Given the description of an element on the screen output the (x, y) to click on. 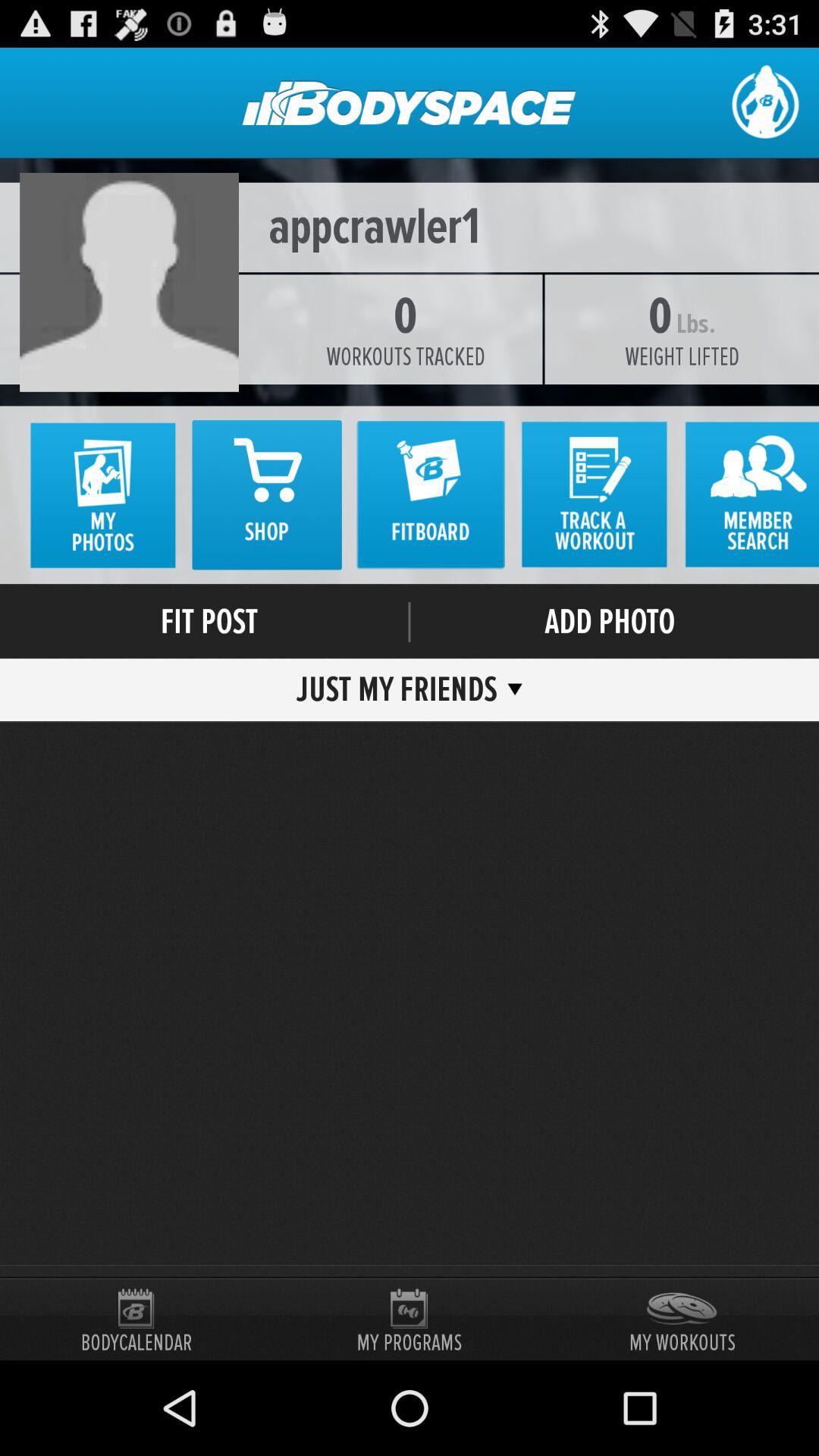
swipe until the fit post (209, 622)
